Given the description of an element on the screen output the (x, y) to click on. 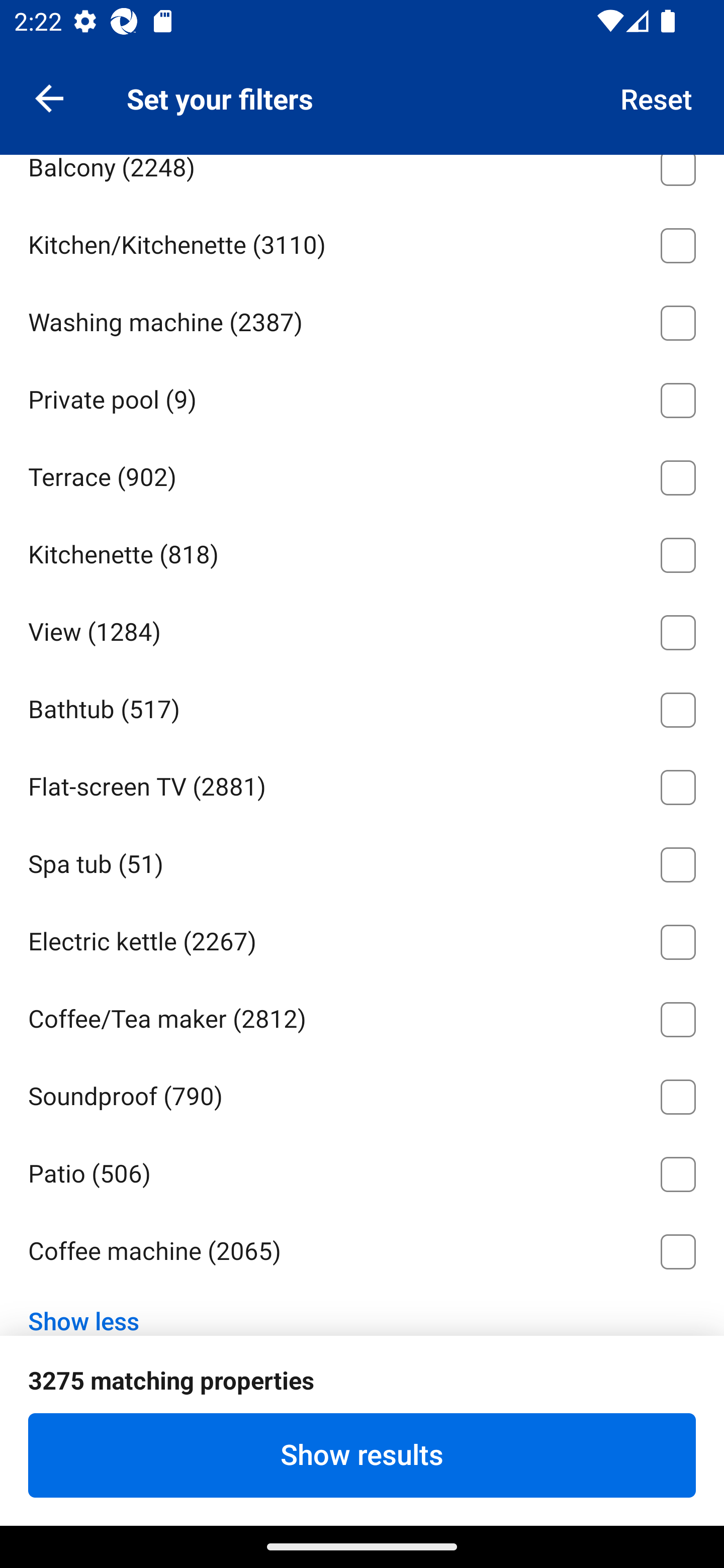
Sea view ⁦(60) (361, 86)
Navigate up (49, 97)
Reset (656, 97)
Balcony ⁦(2248) (361, 179)
Kitchen/Kitchenette ⁦(3110) (361, 241)
Washing machine ⁦(2387) (361, 319)
Private pool ⁦(9) (361, 397)
Terrace ⁦(902) (361, 473)
Kitchenette ⁦(818) (361, 551)
View ⁦(1284) (361, 629)
Bathtub ⁦(517) (361, 705)
Flat-screen TV ⁦(2881) (361, 783)
Spa tub ⁦(51) (361, 861)
Electric kettle ⁦(2267) (361, 938)
Coffee/Tea maker ⁦(2812) (361, 1015)
Soundproof ⁦(790) (361, 1093)
Patio ⁦(506) (361, 1170)
Coffee machine ⁦(2065) (361, 1250)
Show less (90, 1307)
Show results (361, 1454)
